Given the description of an element on the screen output the (x, y) to click on. 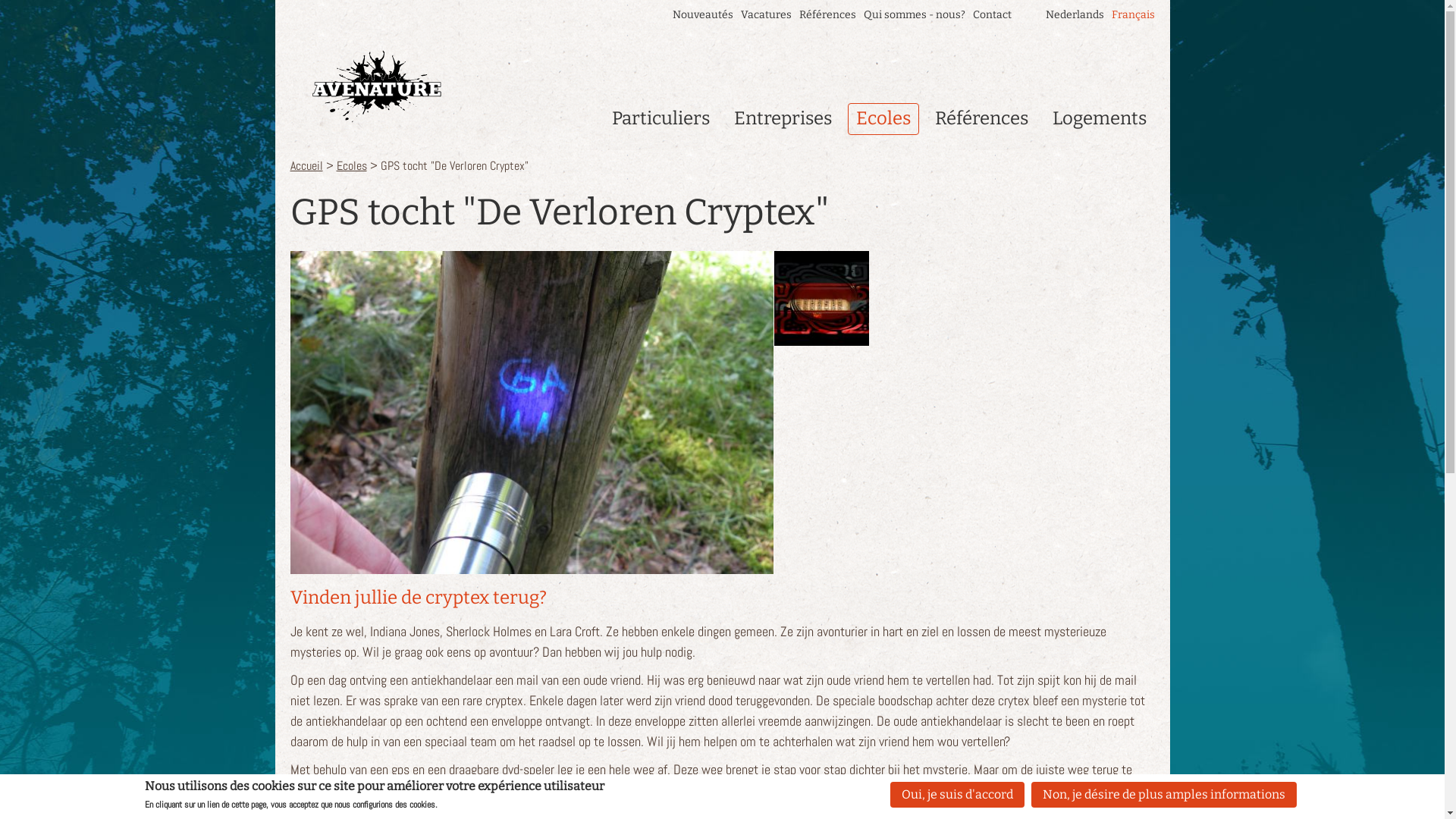
Avenature Element type: text (375, 85)
Oui, je suis d'accord Element type: text (957, 794)
Qui sommes - nous? Element type: text (913, 14)
Ecoles Element type: text (883, 118)
Logements Element type: text (1098, 118)
Entreprises Element type: text (781, 118)
Contact Element type: text (991, 14)
Vacatures Element type: text (765, 14)
Particuliers Element type: text (660, 118)
Ecoles Element type: text (351, 165)
Aller au contenu principal Element type: text (63, 0)
Accueil Element type: text (305, 165)
Nederlands Element type: text (1073, 14)
